Given the description of an element on the screen output the (x, y) to click on. 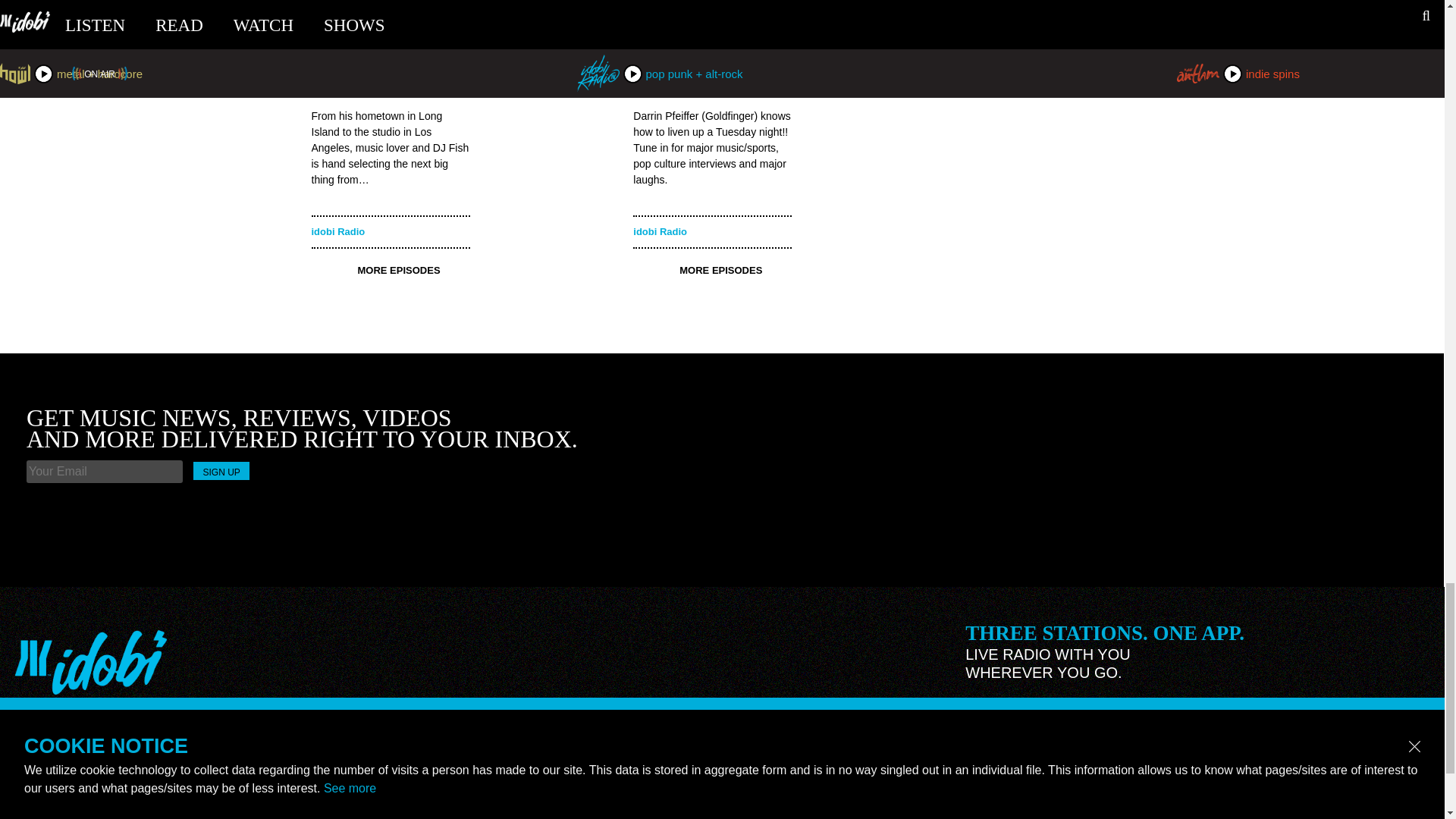
SIGN UP (220, 470)
SIGN UP (389, 48)
